Given the description of an element on the screen output the (x, y) to click on. 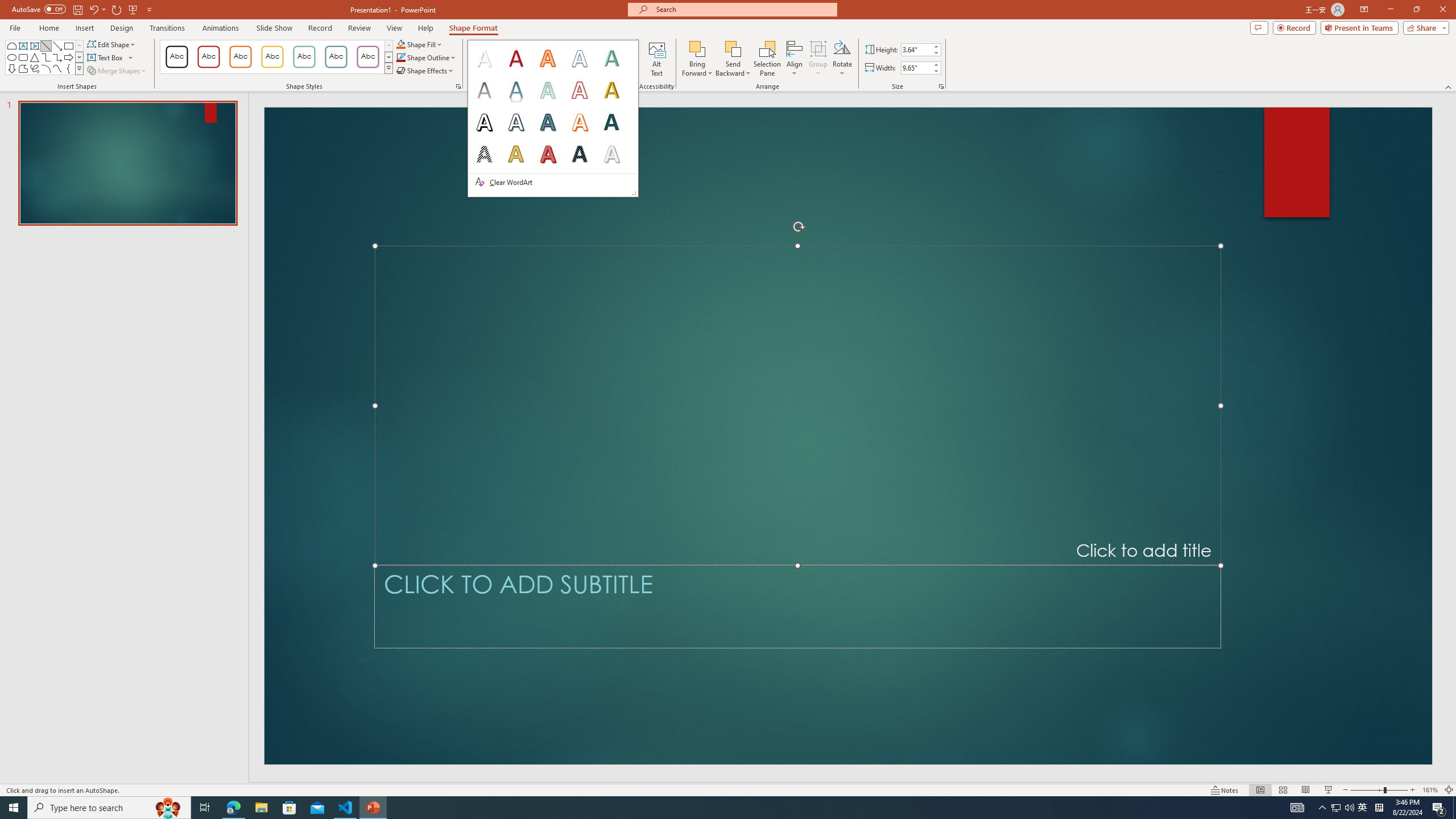
Send Backward (733, 48)
Class: Net UI Tool Window (553, 118)
Microsoft Edge - 1 running window (233, 807)
Rectangle: Top Corners Snipped (11, 45)
Bring Forward (697, 48)
Bring Forward (697, 58)
Colored Outline - Dark Red, Accent 1 (208, 56)
